Given the description of an element on the screen output the (x, y) to click on. 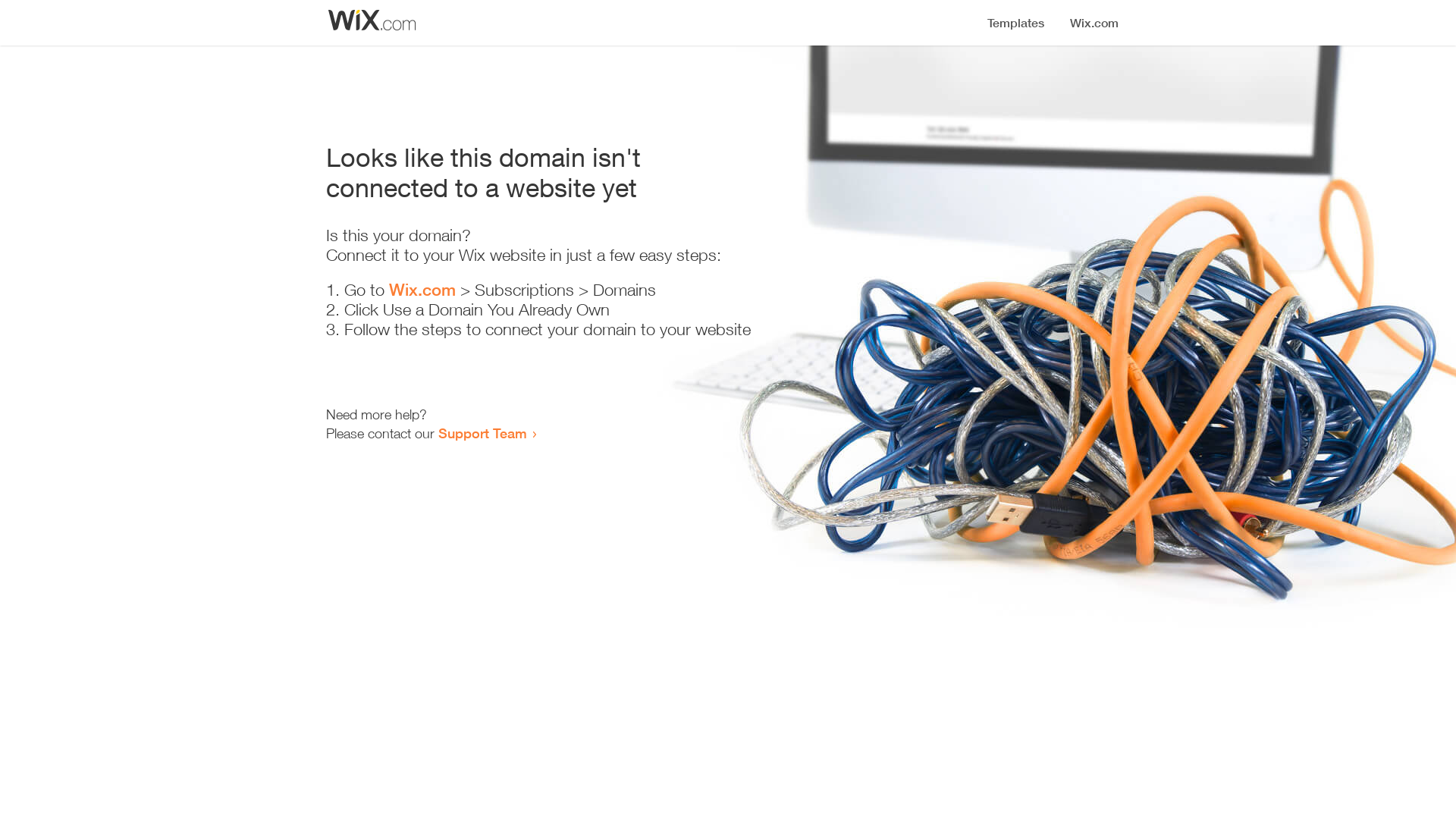
Wix.com Element type: text (422, 289)
Support Team Element type: text (482, 432)
